Given the description of an element on the screen output the (x, y) to click on. 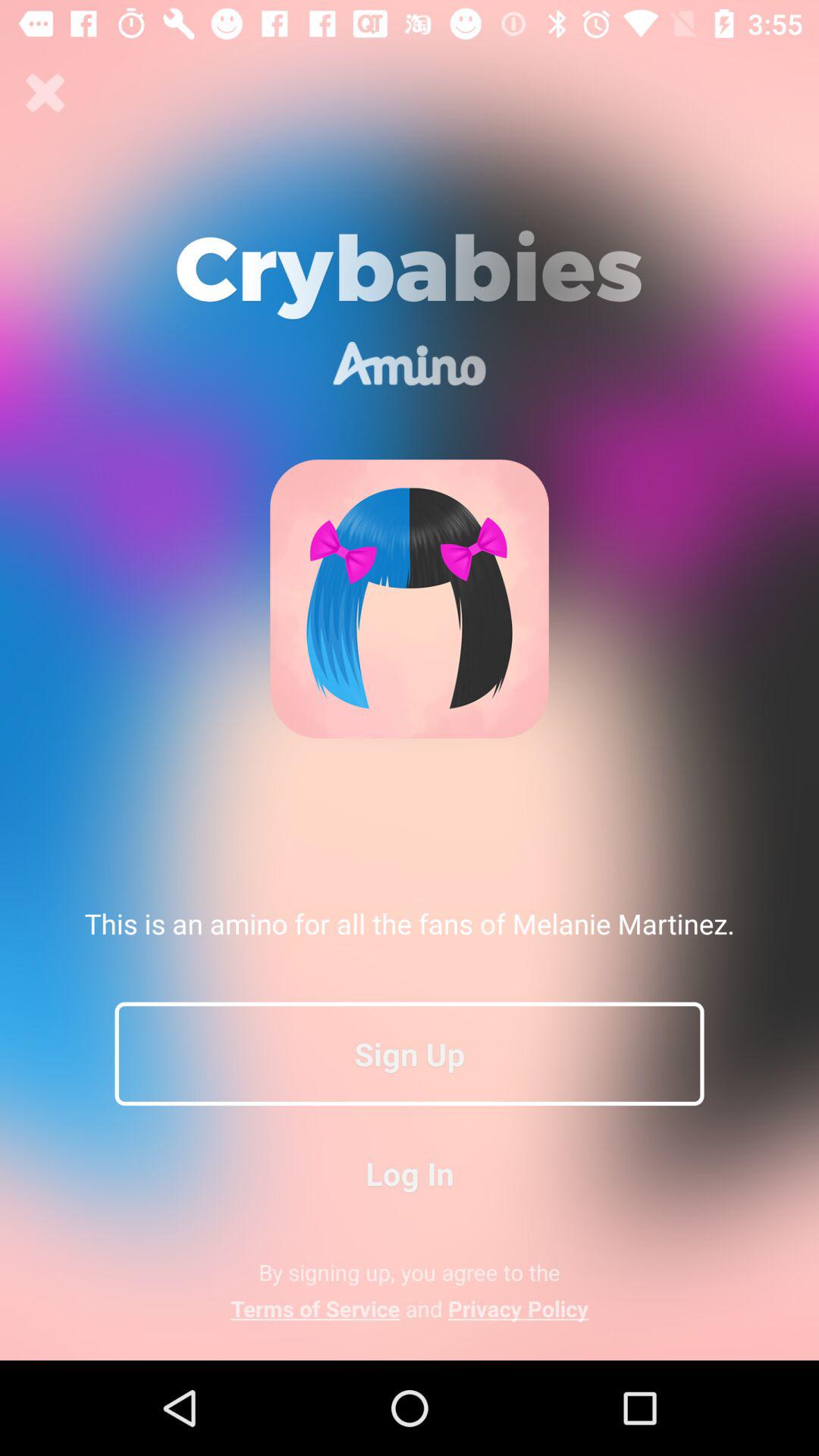
close crybabies amino (45, 93)
